Given the description of an element on the screen output the (x, y) to click on. 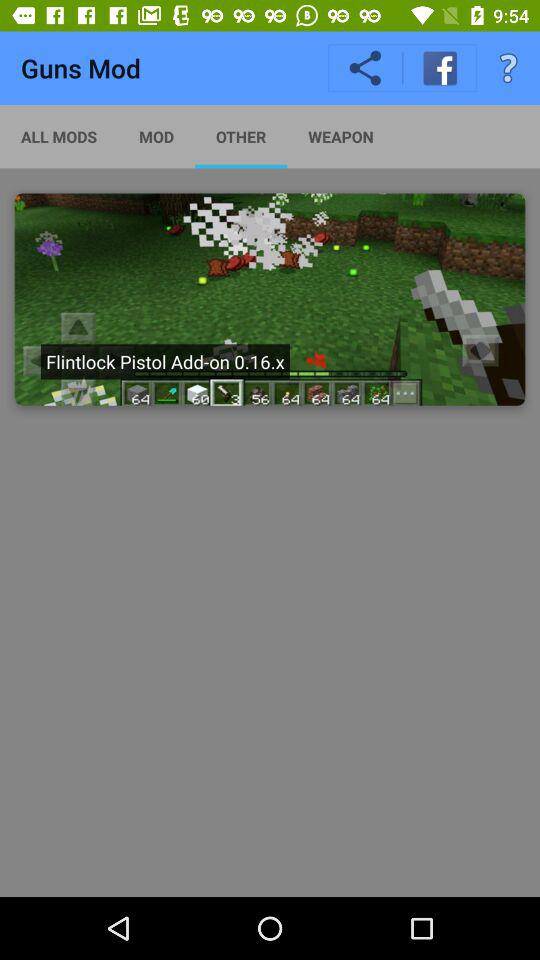
view addon (269, 299)
